Given the description of an element on the screen output the (x, y) to click on. 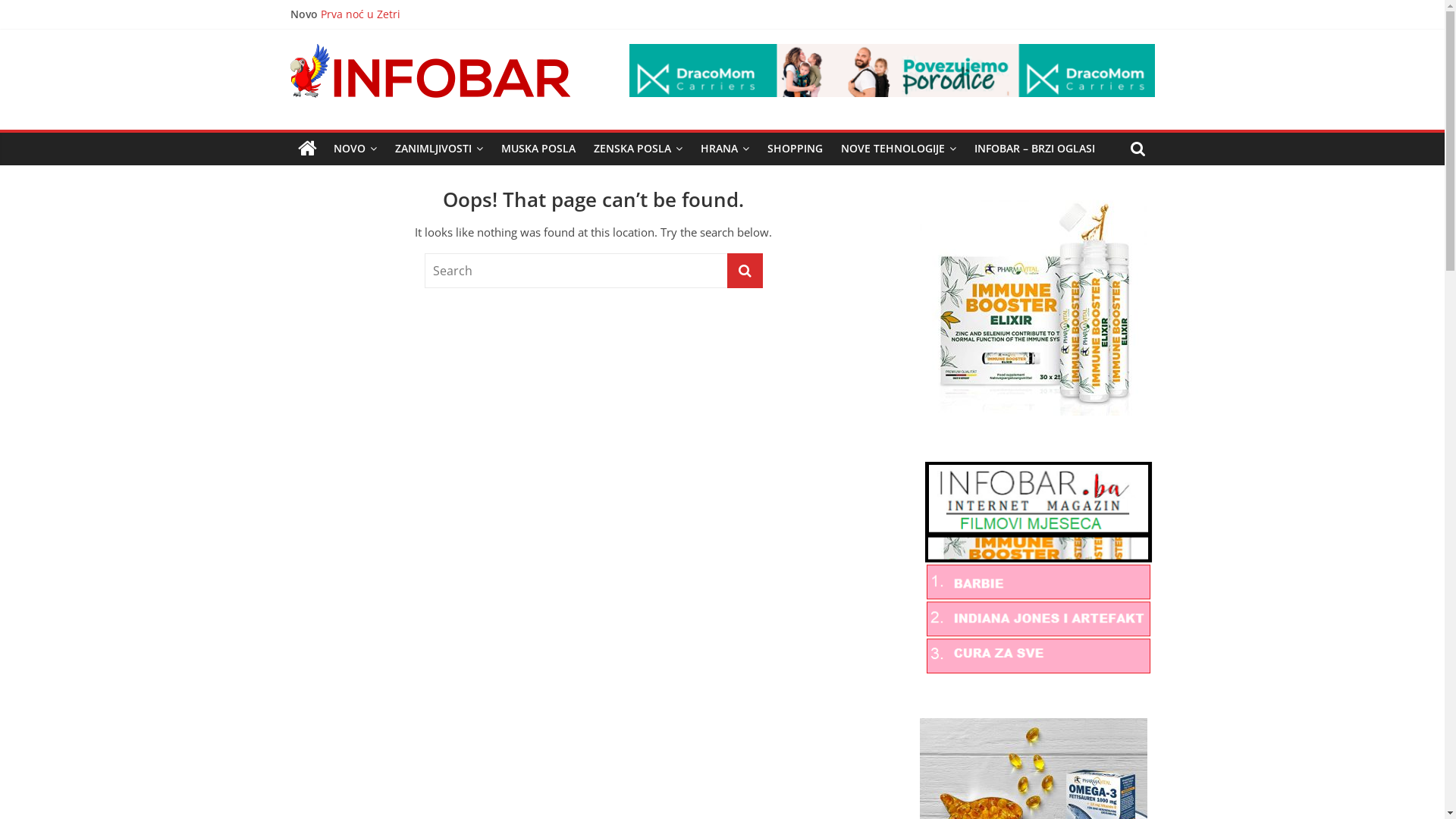
ZENSKA POSLA Element type: text (636, 148)
ZANIMLJIVOSTI Element type: text (438, 148)
Fazlija- ambasador kulture Gornje Austrije Element type: text (427, 30)
Cijena dionica Tesle Element type: text (370, 64)
HRANA Element type: text (724, 148)
SHOPPING Element type: text (794, 148)
NOVE TEHNOLOGIJE Element type: text (897, 148)
MUSKA POSLA Element type: text (537, 148)
NOVO Element type: text (354, 148)
